Given the description of an element on the screen output the (x, y) to click on. 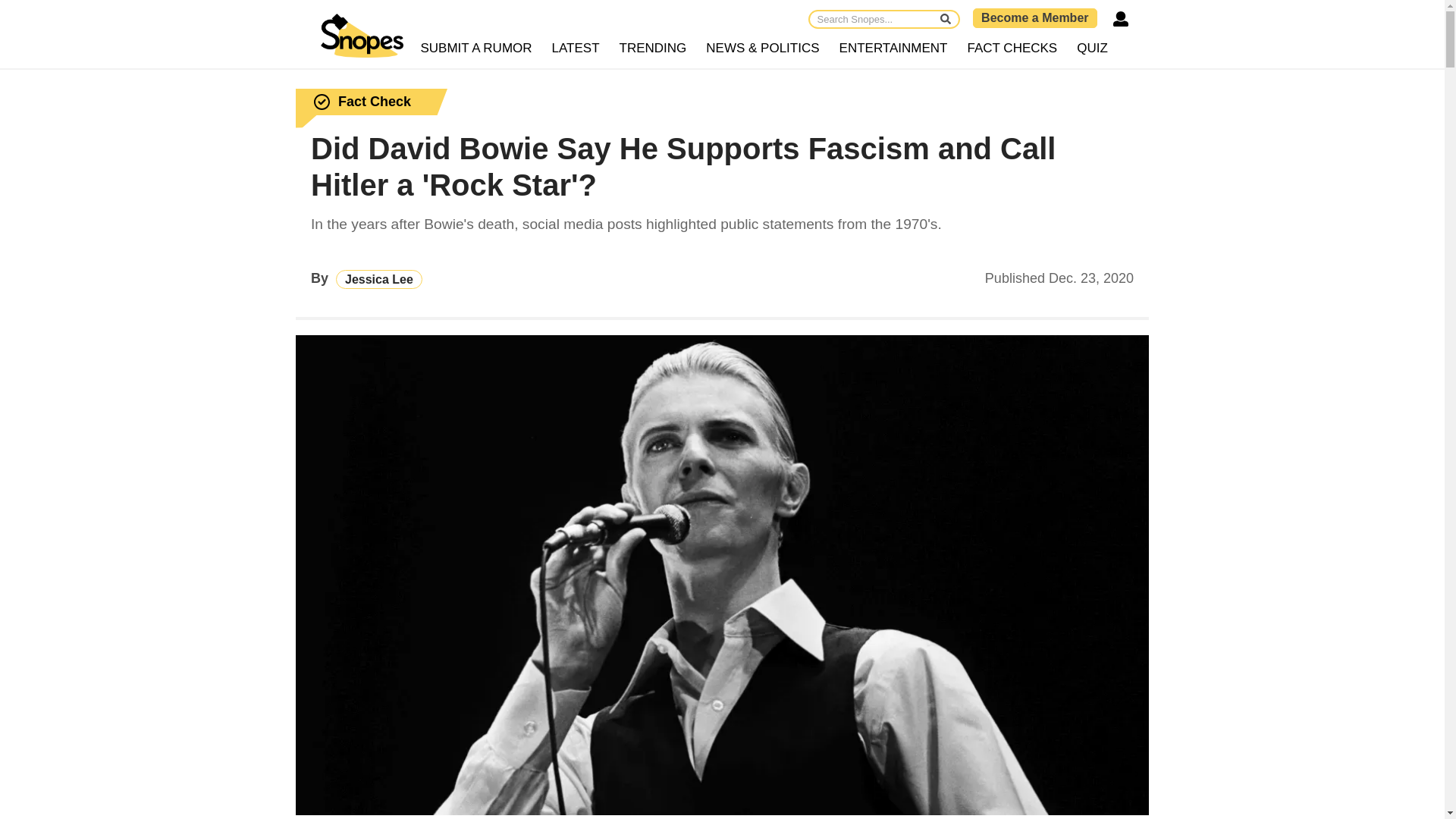
TRENDING (653, 47)
Become a Member (1034, 17)
SUBMIT A RUMOR (475, 47)
FACT CHECKS (1011, 47)
ENTERTAINMENT (893, 47)
LATEST (576, 47)
QUIZ (1092, 47)
Jessica Lee (379, 279)
